Given the description of an element on the screen output the (x, y) to click on. 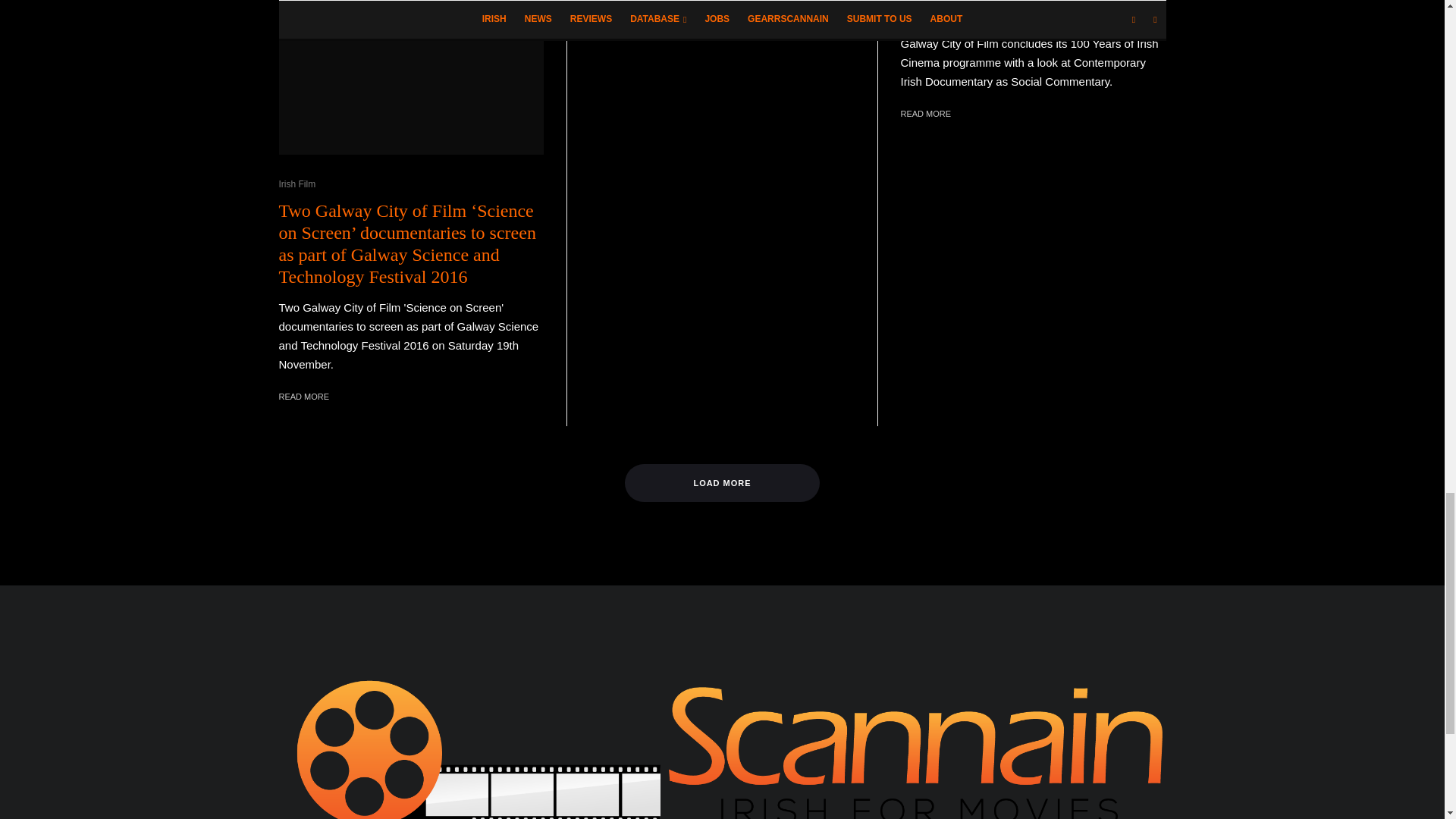
science-on-screen-galway (411, 77)
